Given the description of an element on the screen output the (x, y) to click on. 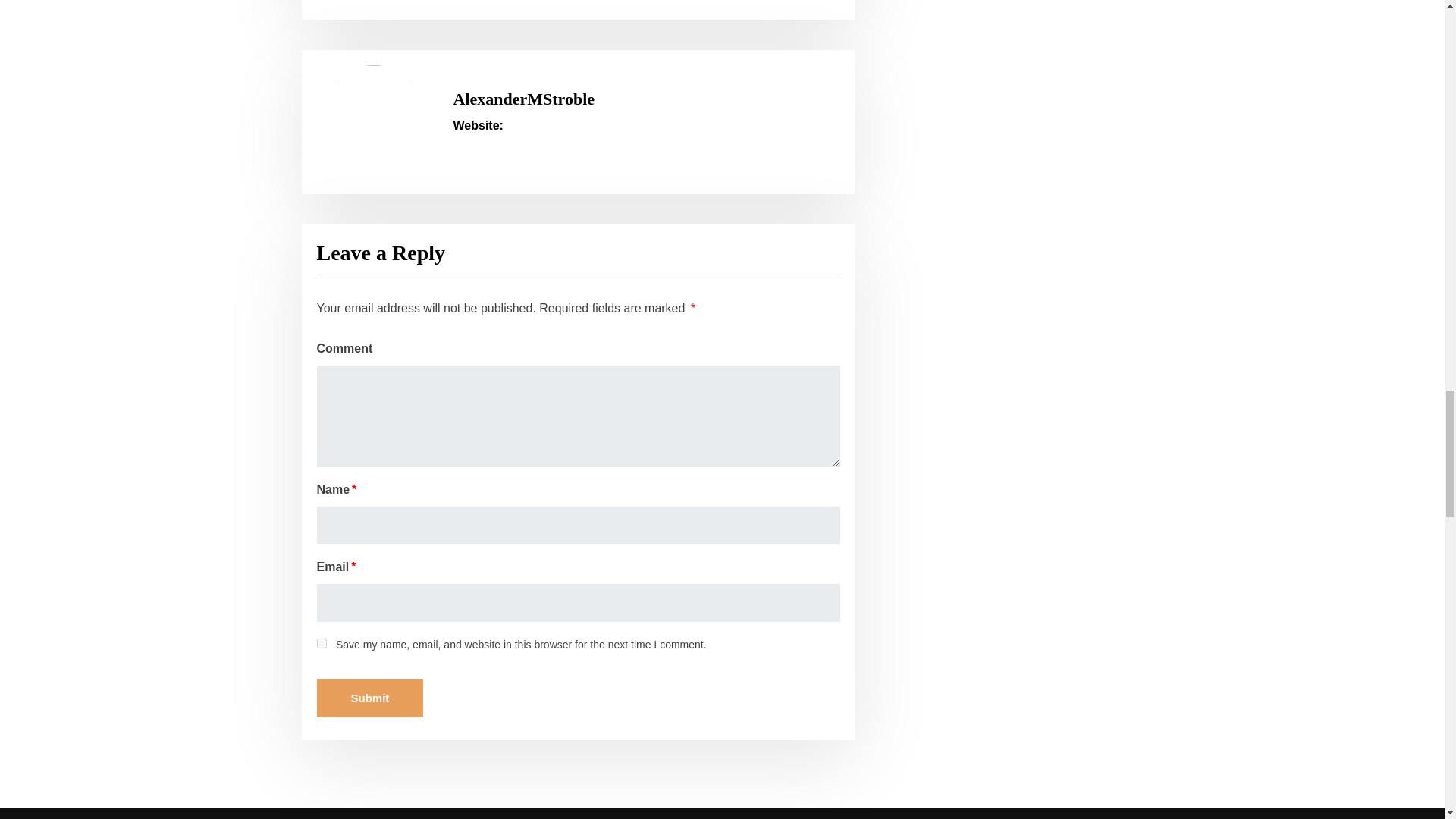
yes (321, 643)
Submit (370, 698)
Submit (370, 698)
